Given the description of an element on the screen output the (x, y) to click on. 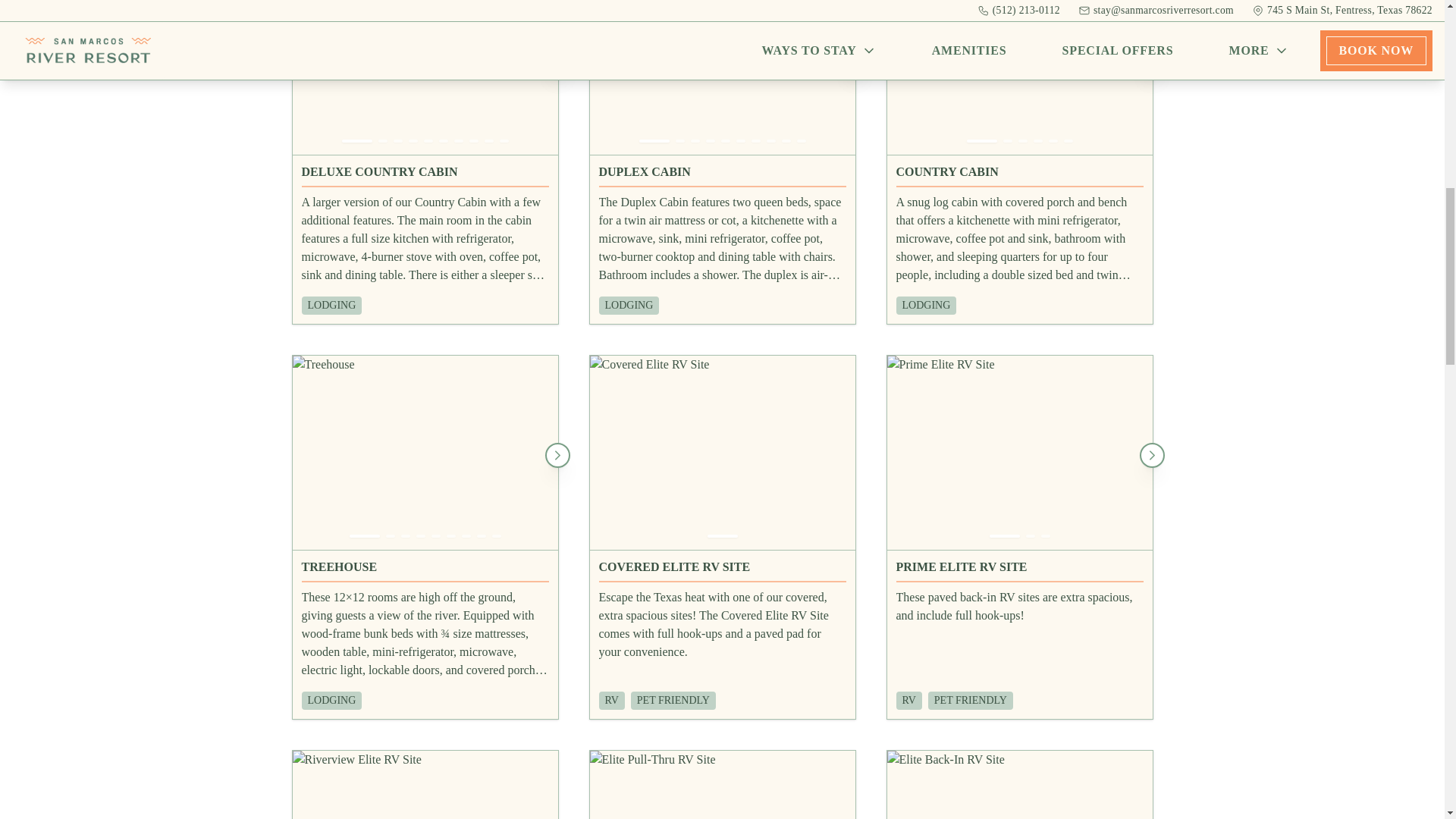
Deluxe Country Cabin (424, 175)
Treehouse (424, 570)
Country Cabin (1019, 175)
Prime Elite RV Site (1019, 570)
Covered Elite RV Site (721, 570)
Duplex Cabin (721, 175)
